Given the description of an element on the screen output the (x, y) to click on. 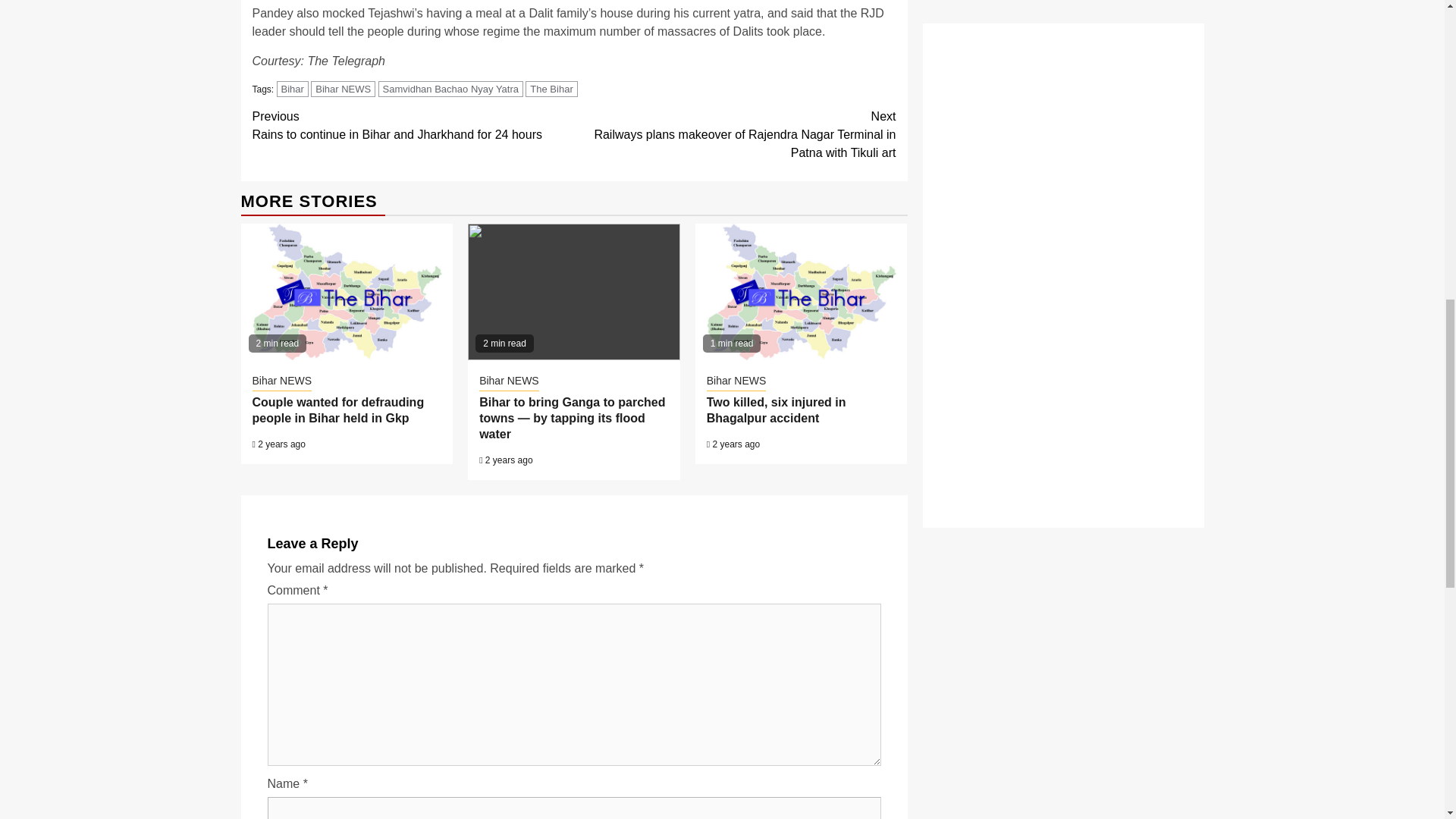
Samvidhan Bachao Nyay Yatra (450, 89)
Bihar (292, 89)
Bihar NEWS (281, 382)
Bihar NEWS (343, 89)
The Bihar (550, 89)
